Given the description of an element on the screen output the (x, y) to click on. 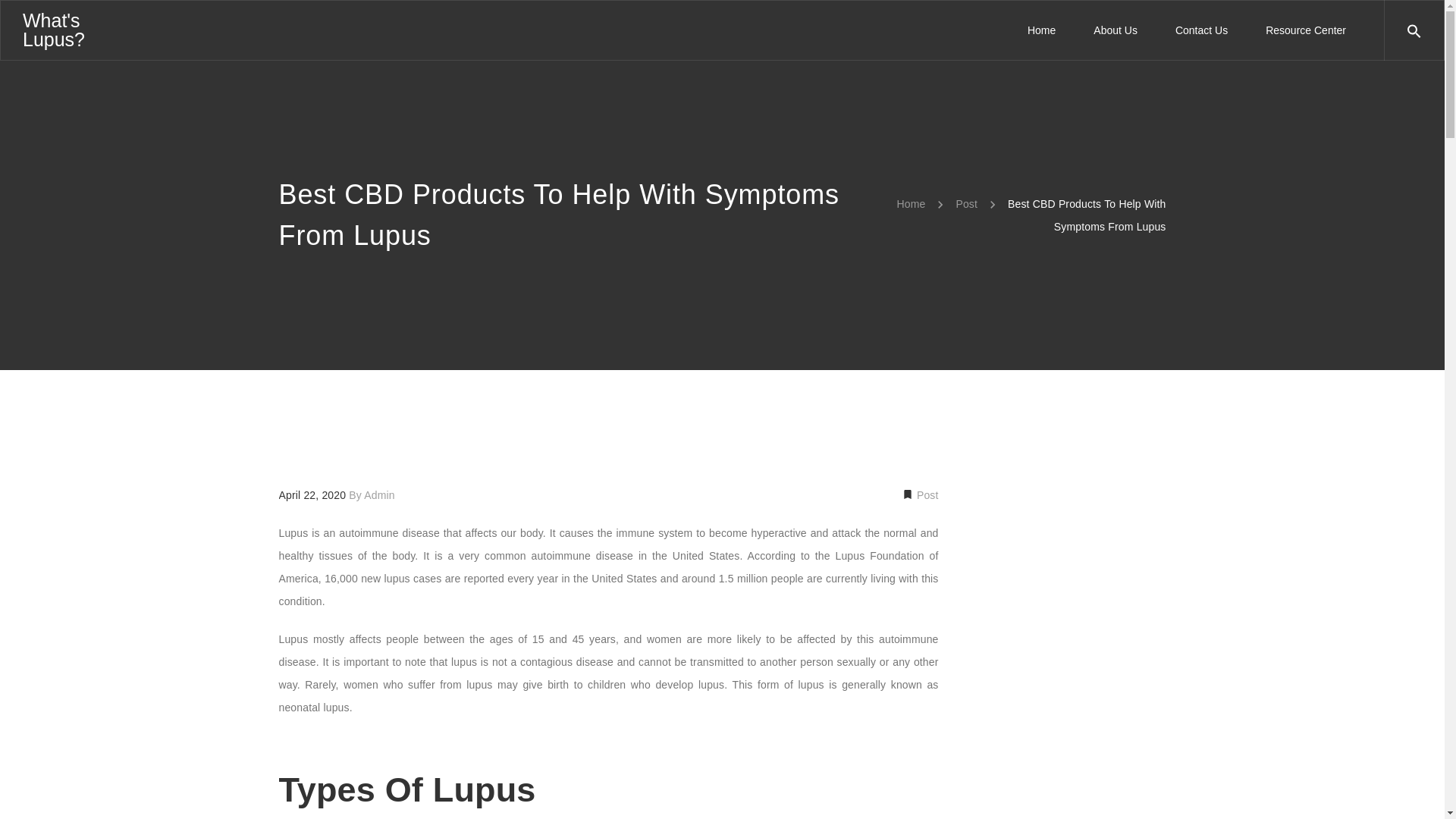
April 22, 2020 (314, 494)
Post (926, 494)
All about Lupus (53, 29)
Home (1041, 30)
About Us (1115, 30)
Admin (379, 494)
Contact Us (1201, 30)
Post (965, 203)
Home (911, 203)
Resource Center (1295, 30)
What's Lupus? (53, 29)
